Given the description of an element on the screen output the (x, y) to click on. 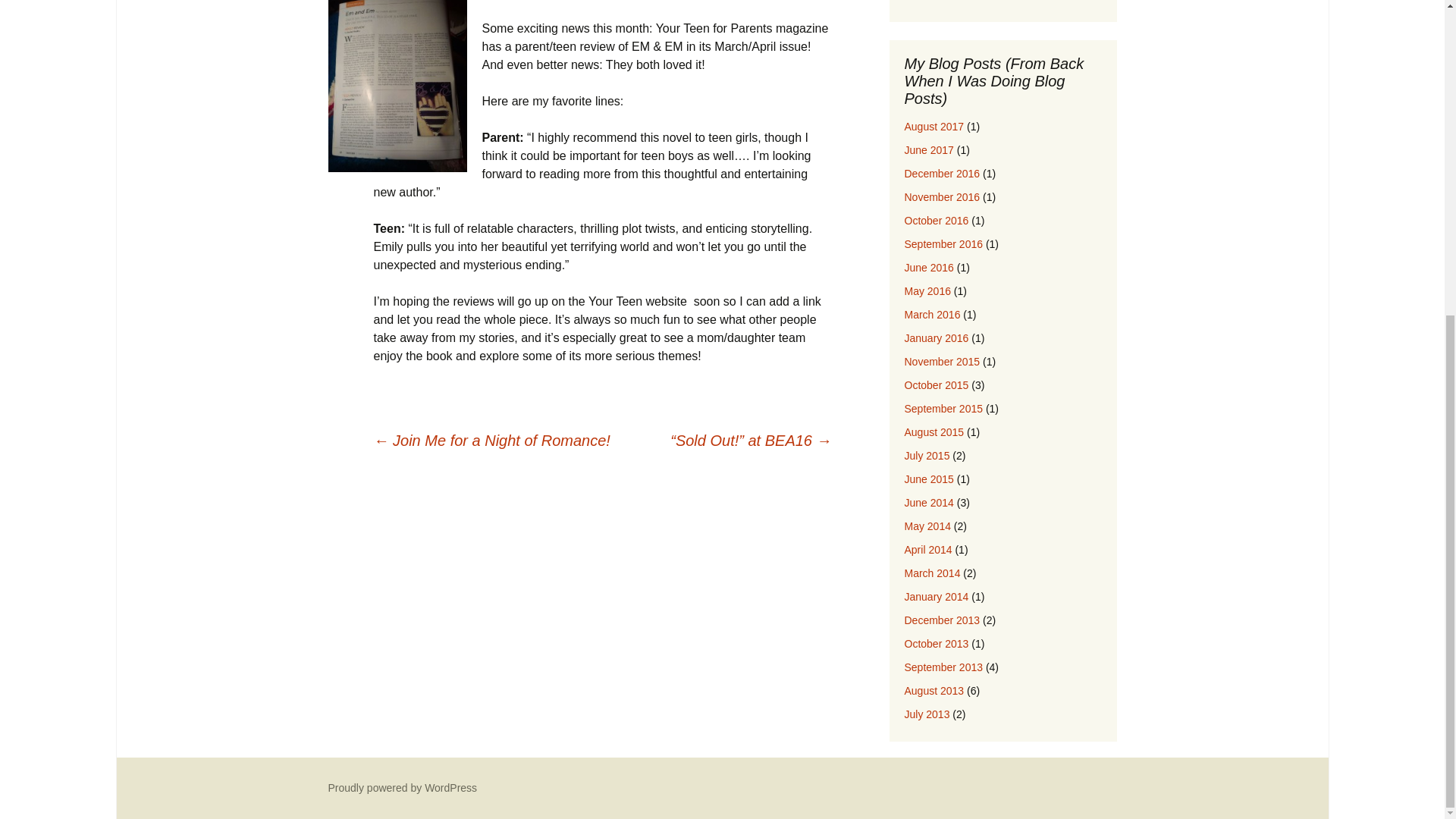
June 2015 (928, 479)
June 2016 (928, 267)
May 2016 (927, 291)
July 2015 (926, 455)
August 2015 (933, 431)
November 2016 (941, 196)
August 2017 (933, 126)
June 2017 (928, 150)
October 2016 (936, 220)
December 2016 (941, 173)
March 2016 (931, 314)
January 2016 (936, 337)
September 2015 (943, 408)
October 2015 (936, 385)
September 2016 (943, 244)
